Given the description of an element on the screen output the (x, y) to click on. 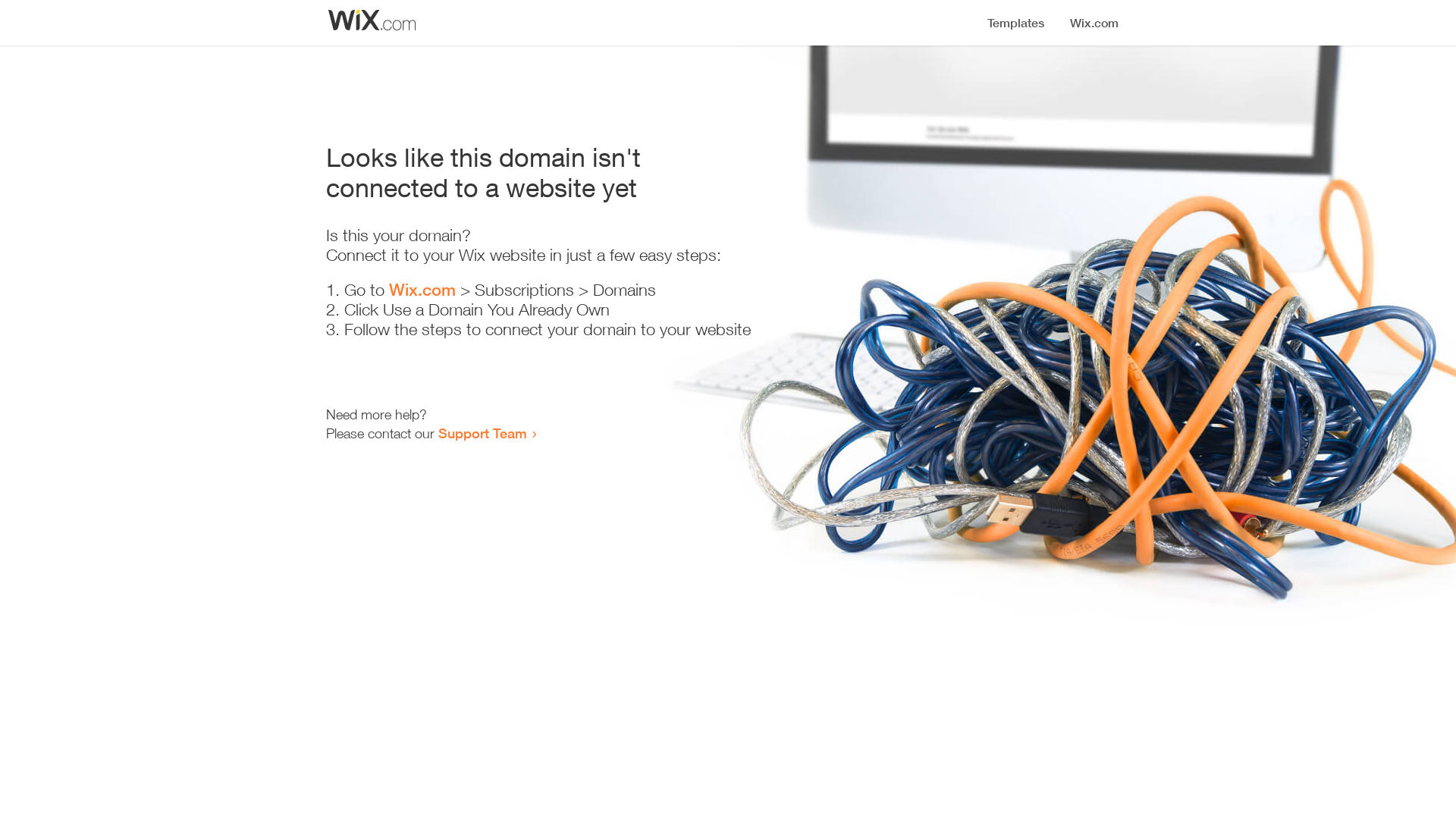
Support Team Element type: text (482, 432)
Wix.com Element type: text (422, 289)
